Given the description of an element on the screen output the (x, y) to click on. 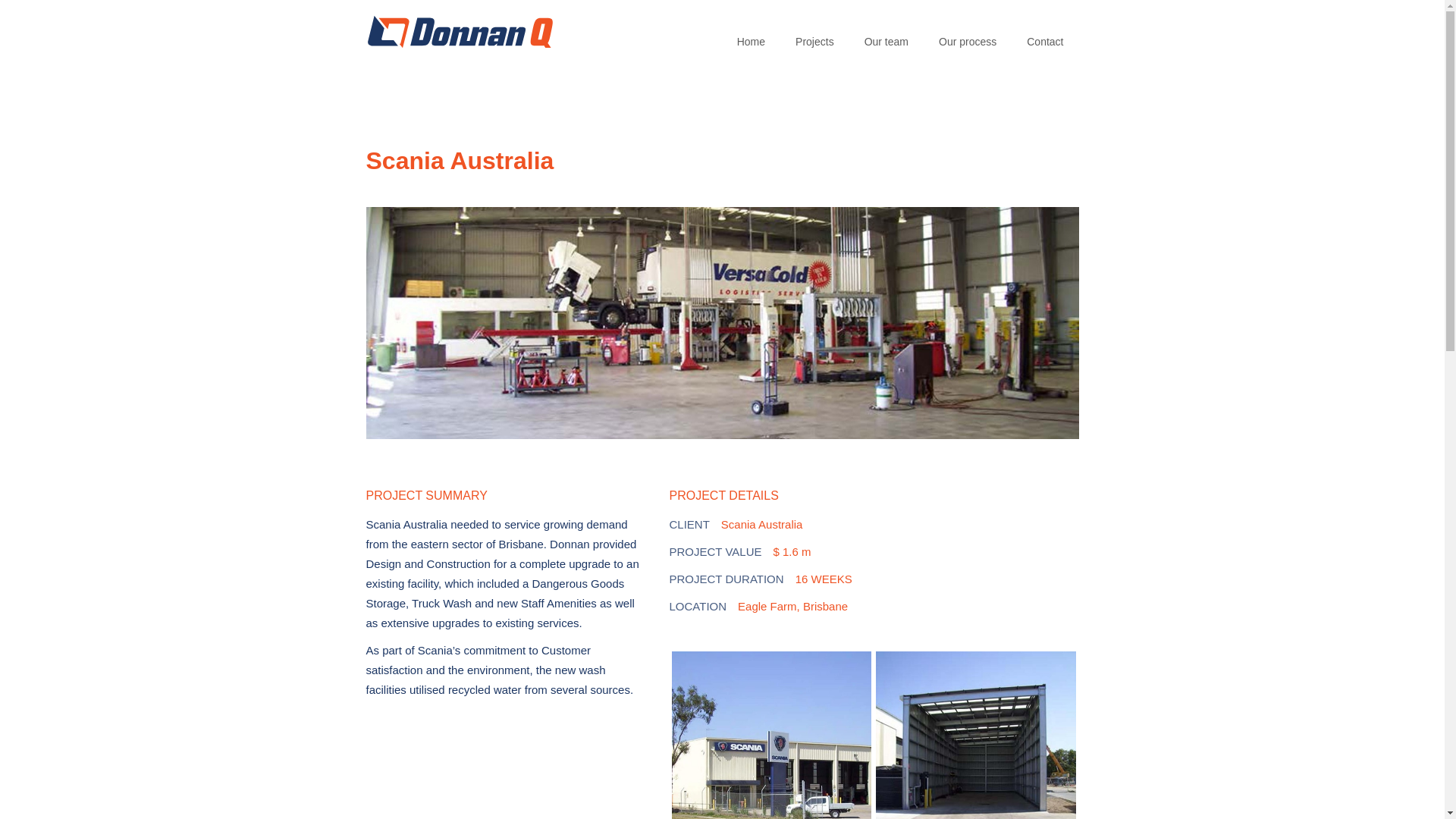
Our team Element type: text (886, 34)
Our process Element type: text (967, 34)
Home Element type: text (750, 34)
Projects Element type: text (814, 34)
Contact Element type: text (1044, 34)
